Given the description of an element on the screen output the (x, y) to click on. 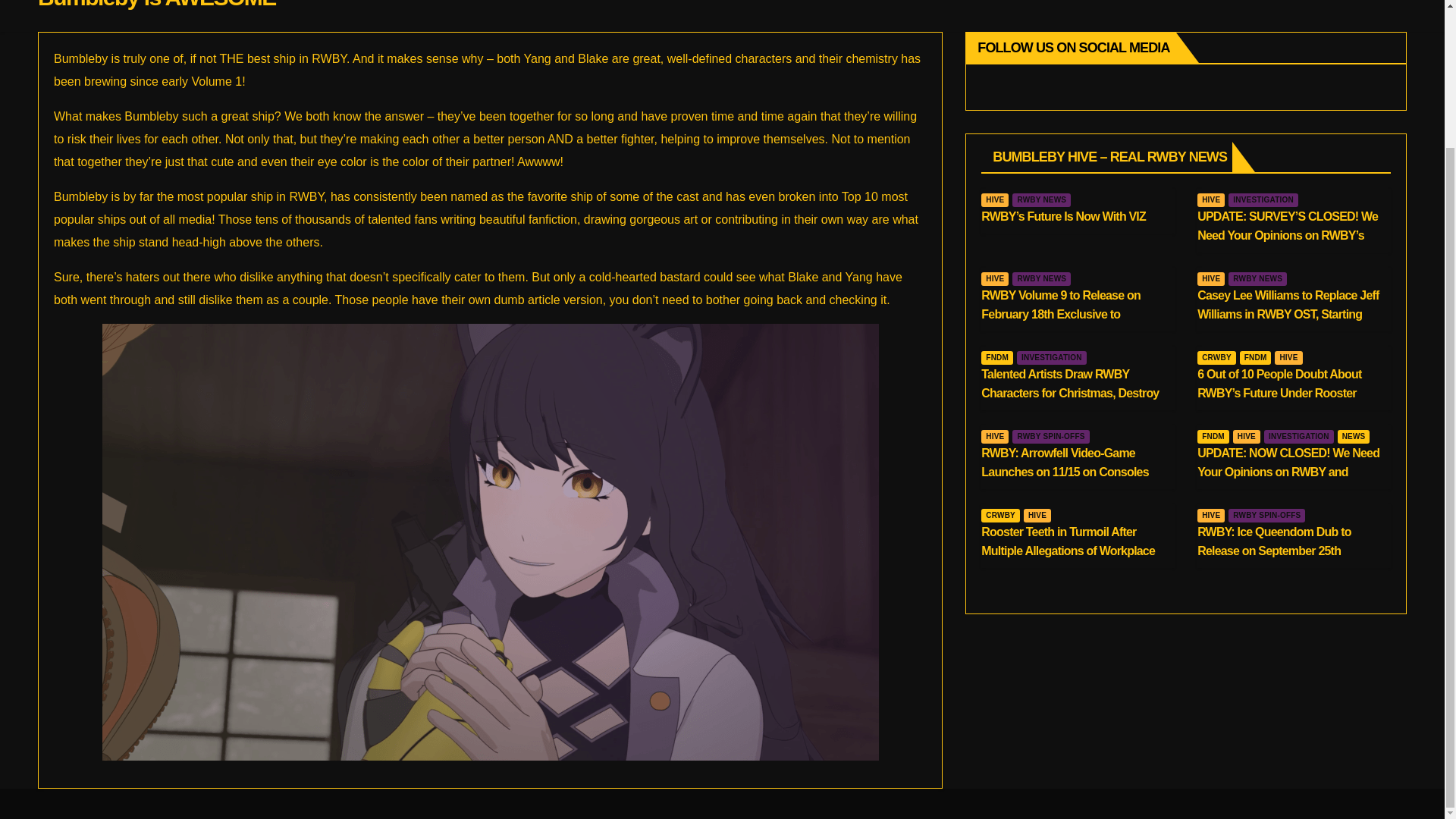
RWBY NEWS (1257, 278)
INVESTIGATION (1051, 357)
HIVE (995, 200)
HIVE (1210, 278)
RWBY NEWS (1040, 200)
HIVE (1210, 200)
FNDM (997, 357)
INVESTIGATION (1263, 200)
